Given the description of an element on the screen output the (x, y) to click on. 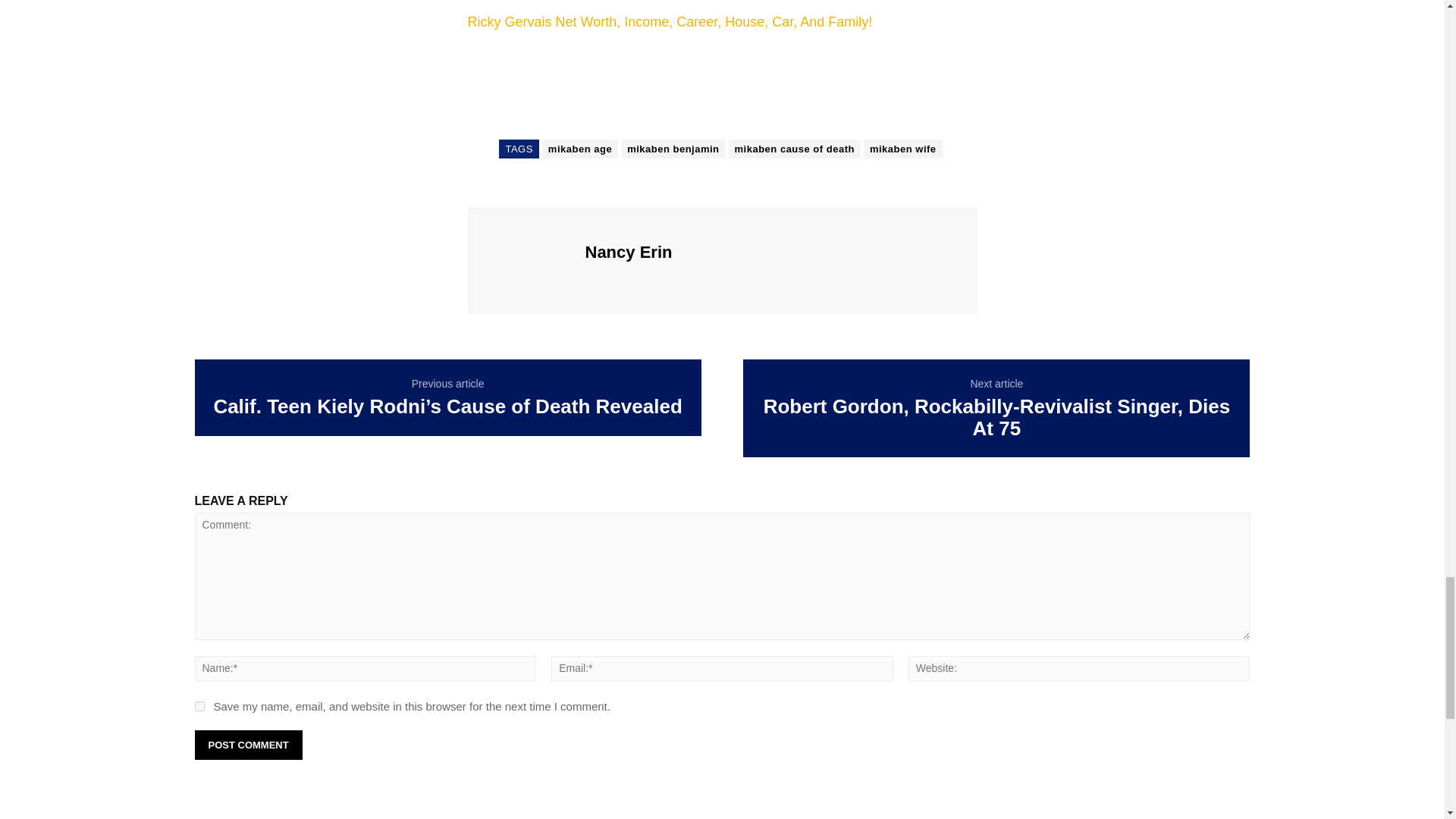
yes (198, 706)
Post Comment (247, 745)
